Given the description of an element on the screen output the (x, y) to click on. 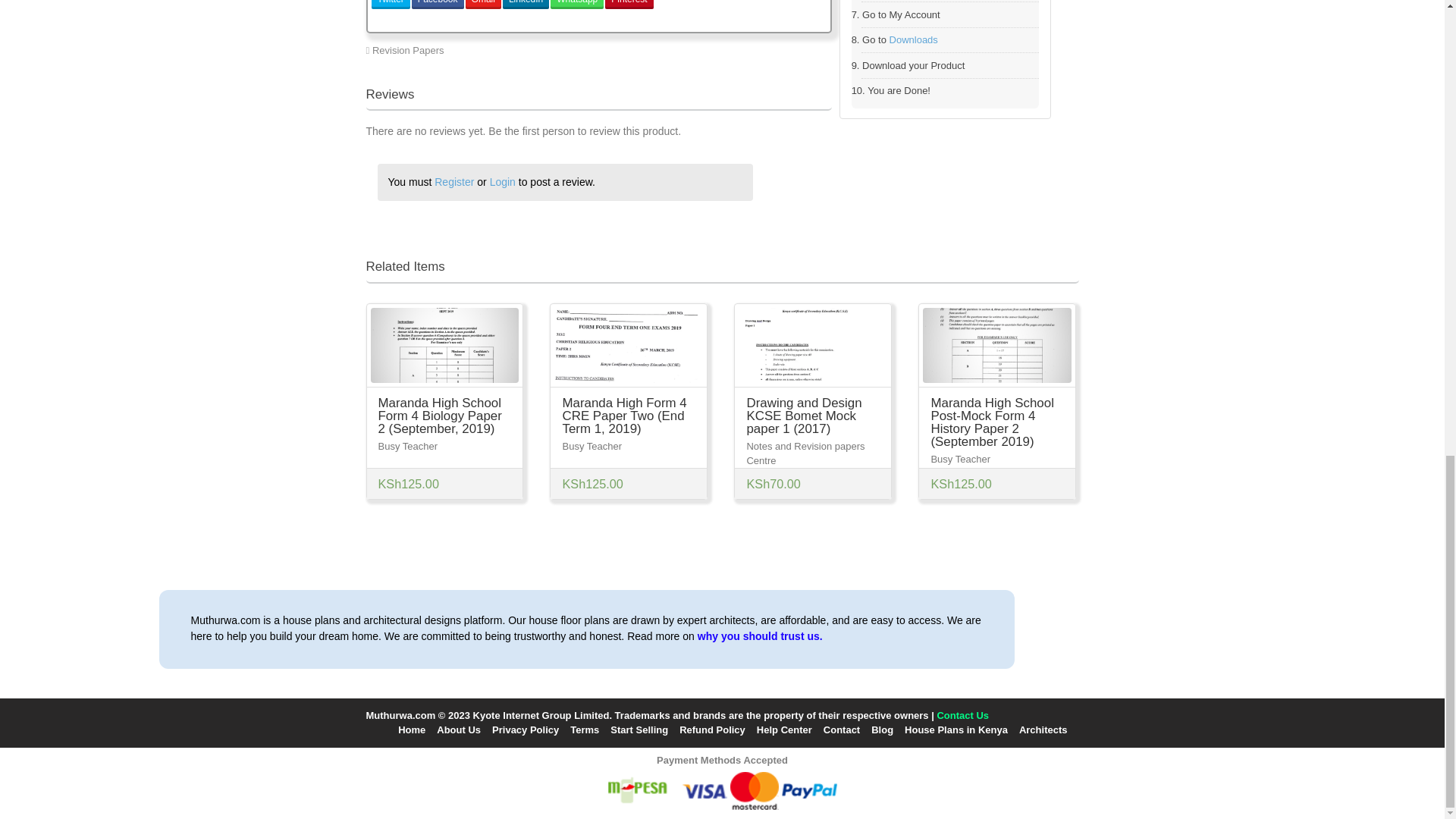
Pinterest (628, 4)
Gmail (482, 4)
contact us (962, 715)
Facebook (438, 4)
Twitter (390, 4)
LinkedIn (525, 4)
Whatsapp (577, 4)
Revision Papers (408, 50)
Moi Kabarak Post-Mock Past Papers 2021 (733, 50)
